Given the description of an element on the screen output the (x, y) to click on. 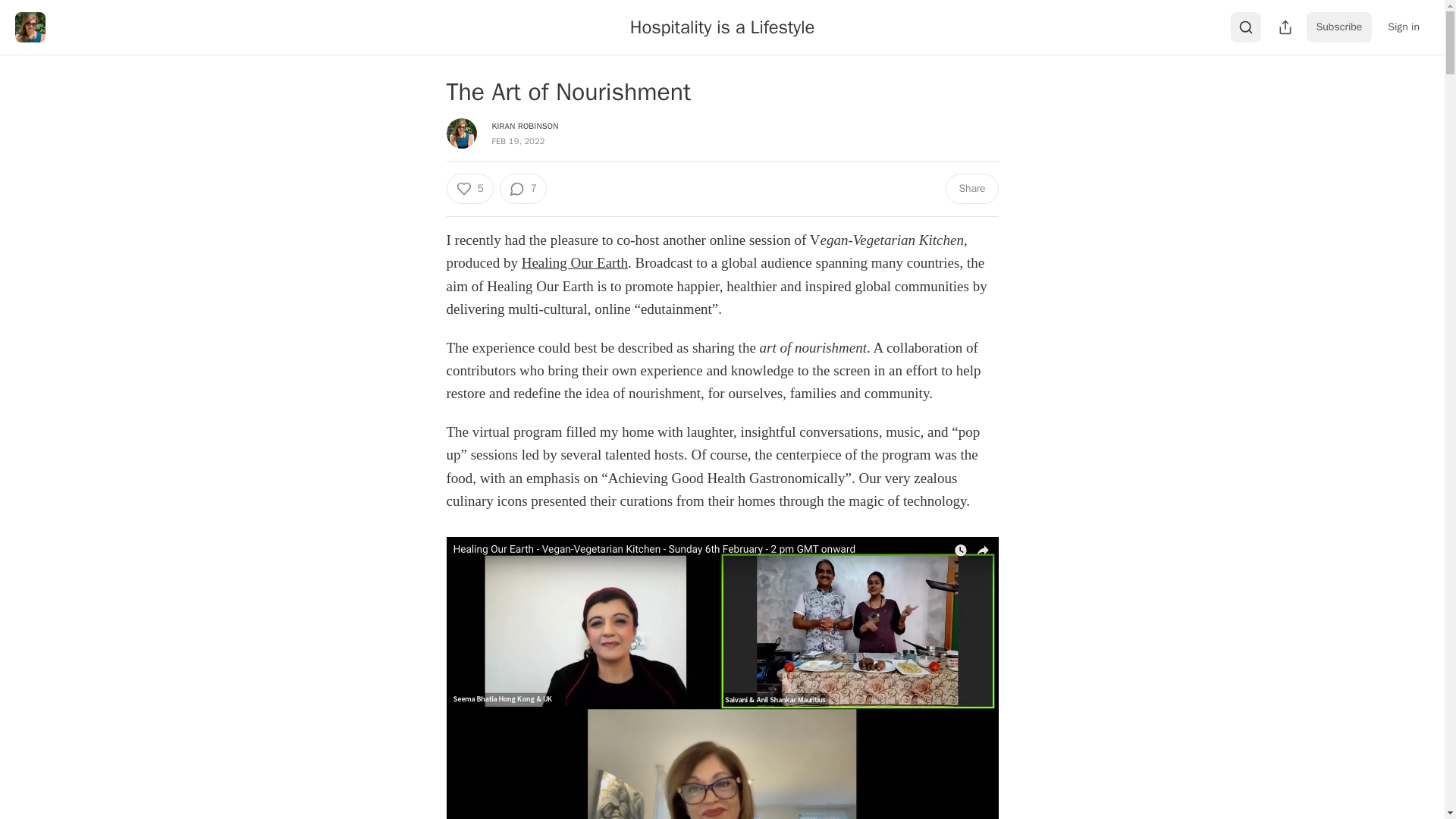
Sign in (1403, 27)
Share (970, 188)
7 (523, 188)
Hospitality is a Lifestyle (721, 26)
Healing Our Earth (574, 262)
KIRAN ROBINSON (524, 125)
5 (469, 188)
Subscribe (1339, 27)
